Given the description of an element on the screen output the (x, y) to click on. 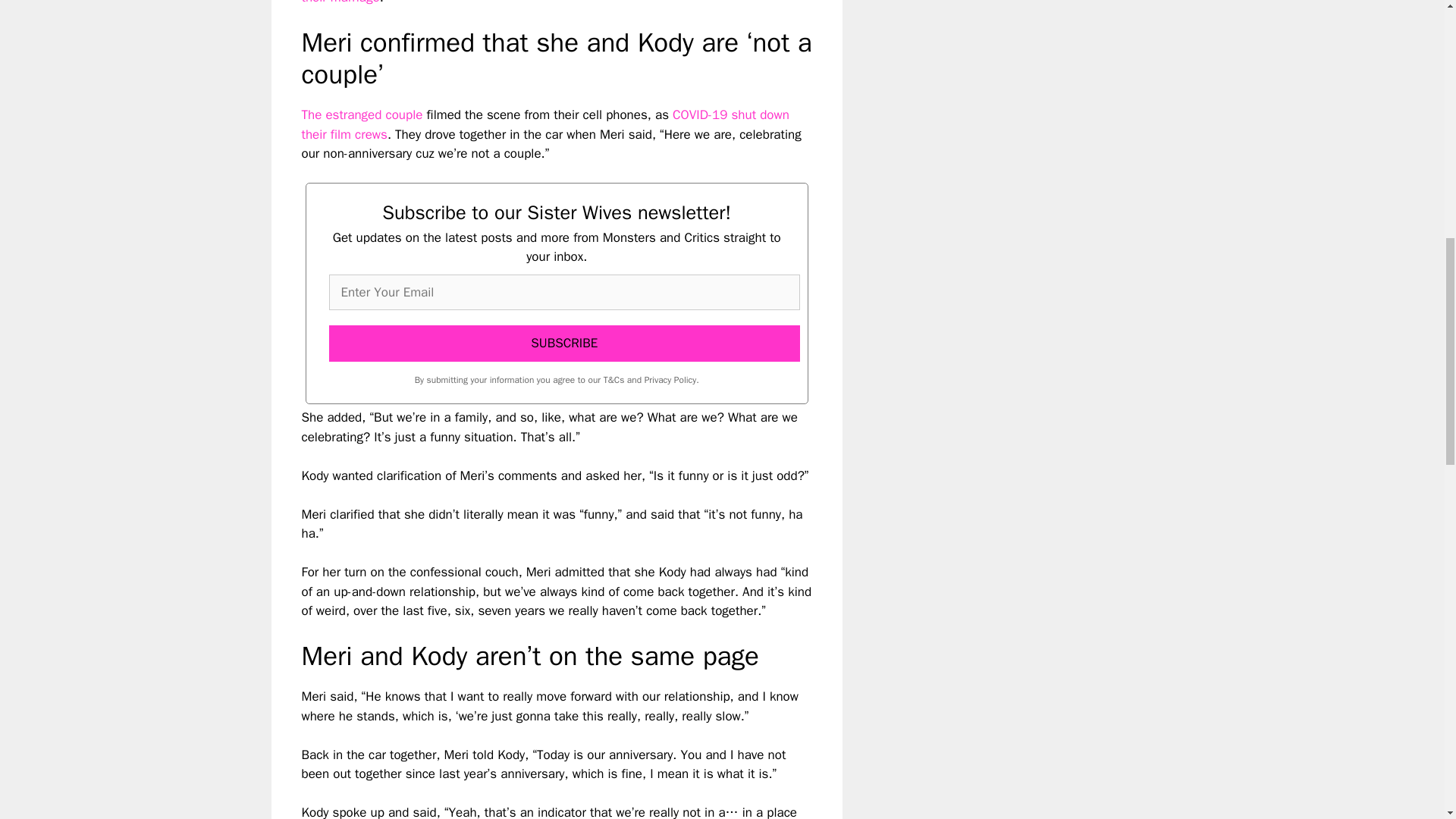
The estranged couple (362, 114)
SUBSCRIBE (564, 343)
the beginning of the end of their marriage (549, 2)
COVID-19 shut down their film crews (545, 124)
SUBSCRIBE (564, 343)
